Given the description of an element on the screen output the (x, y) to click on. 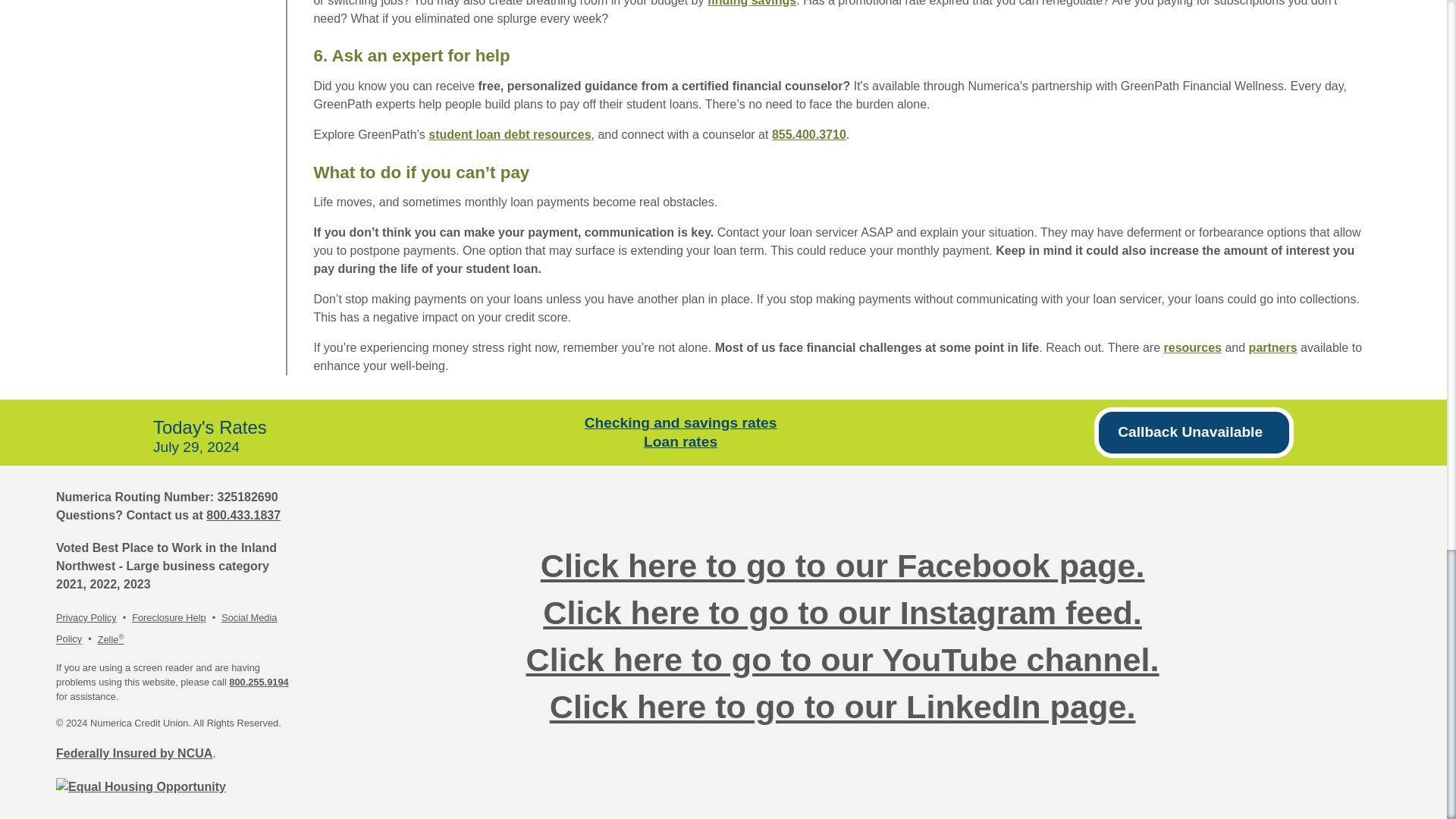
privacy policy (86, 617)
Social Media Policy (166, 627)
Equal housing (140, 787)
deposit account rates (681, 421)
Numerica phone number footer (243, 514)
Loan rates table (680, 441)
